Given the description of an element on the screen output the (x, y) to click on. 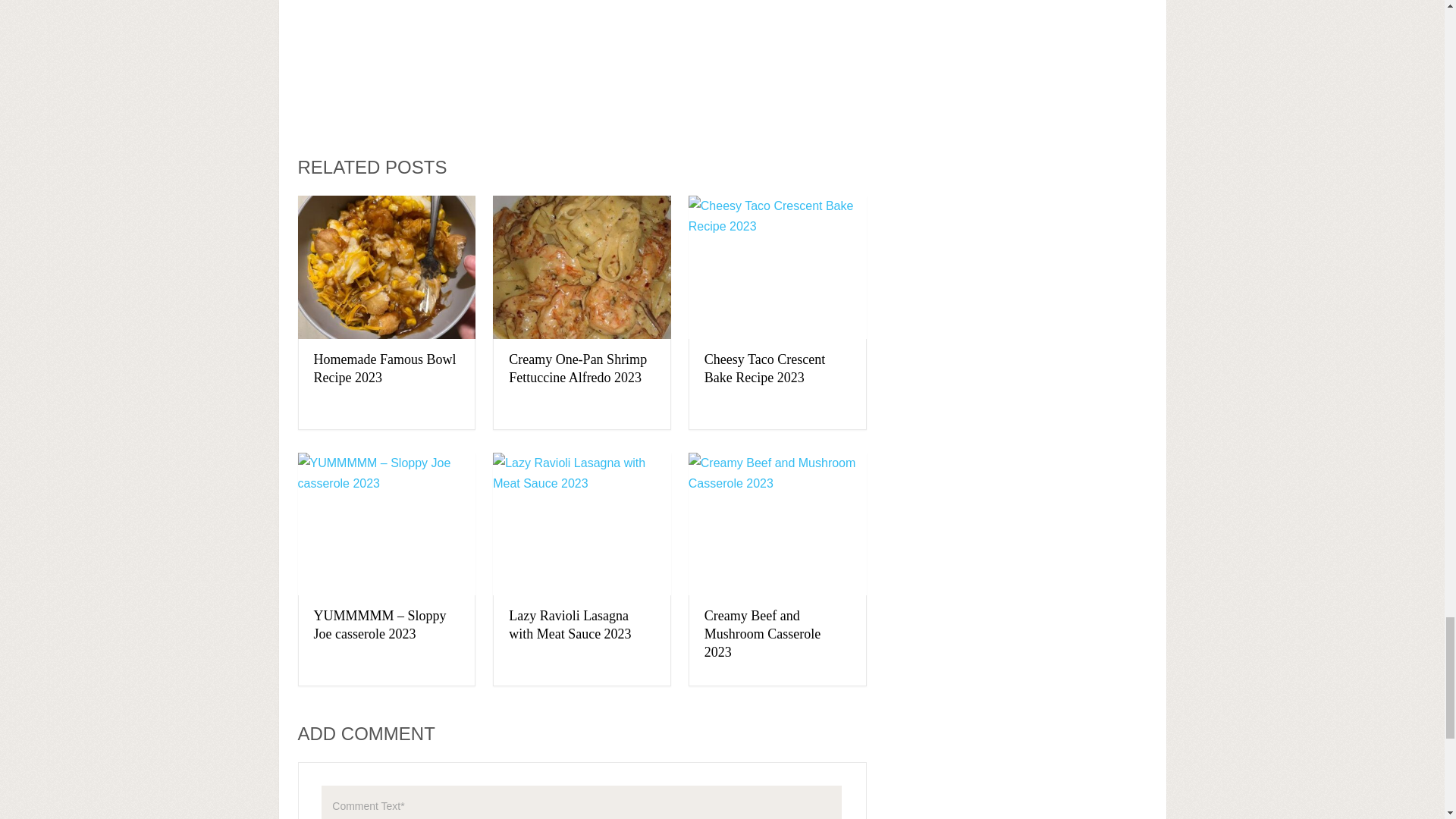
NEXT ARTICLE (807, 103)
Homemade Famous Bowl Recipe 2023 (385, 368)
Cheesy Taco Crescent Bake Recipe 2023 (764, 368)
Creamy Beef and Mushroom Casserole 2023 (762, 634)
Cheesy Taco Crescent Bake Recipe 2023 (777, 267)
Cheesy Taco Crescent Bake Recipe 2023 (764, 368)
Creamy One-Pan Shrimp Fettuccine Alfredo 2023 (577, 368)
Homemade Famous Bowl Recipe 2023 (385, 368)
Lazy Ravioli Lasagna with Meat Sauce 2023 (569, 624)
Creamy One-Pan Shrimp Fettuccine Alfredo 2023 (577, 368)
Homemade Famous Bowl Recipe 2023 (386, 267)
Creamy One-Pan Shrimp Fettuccine Alfredo 2023 (582, 267)
PREV ARTICLE (682, 103)
